Given the description of an element on the screen output the (x, y) to click on. 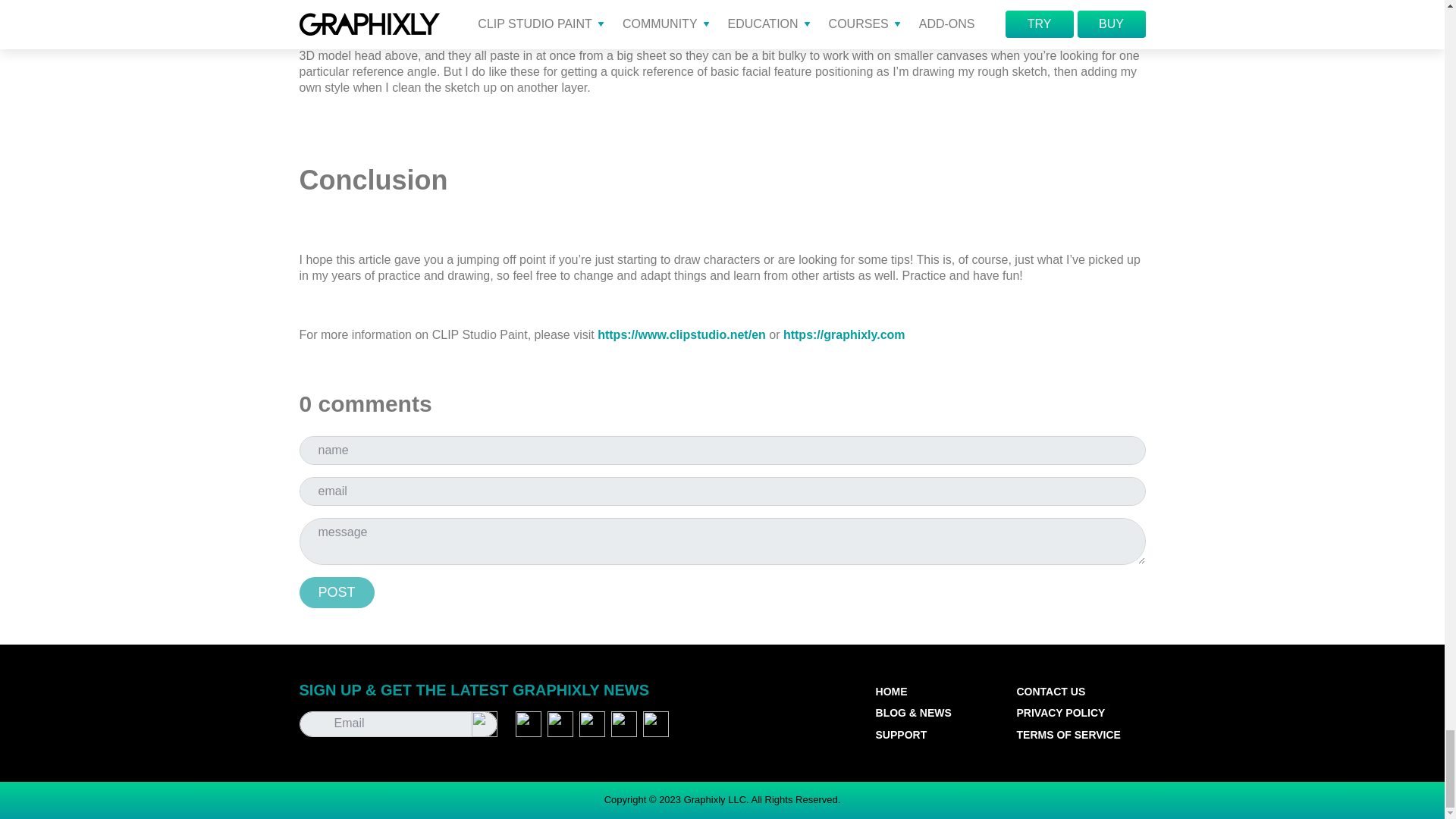
post (336, 592)
